Given the description of an element on the screen output the (x, y) to click on. 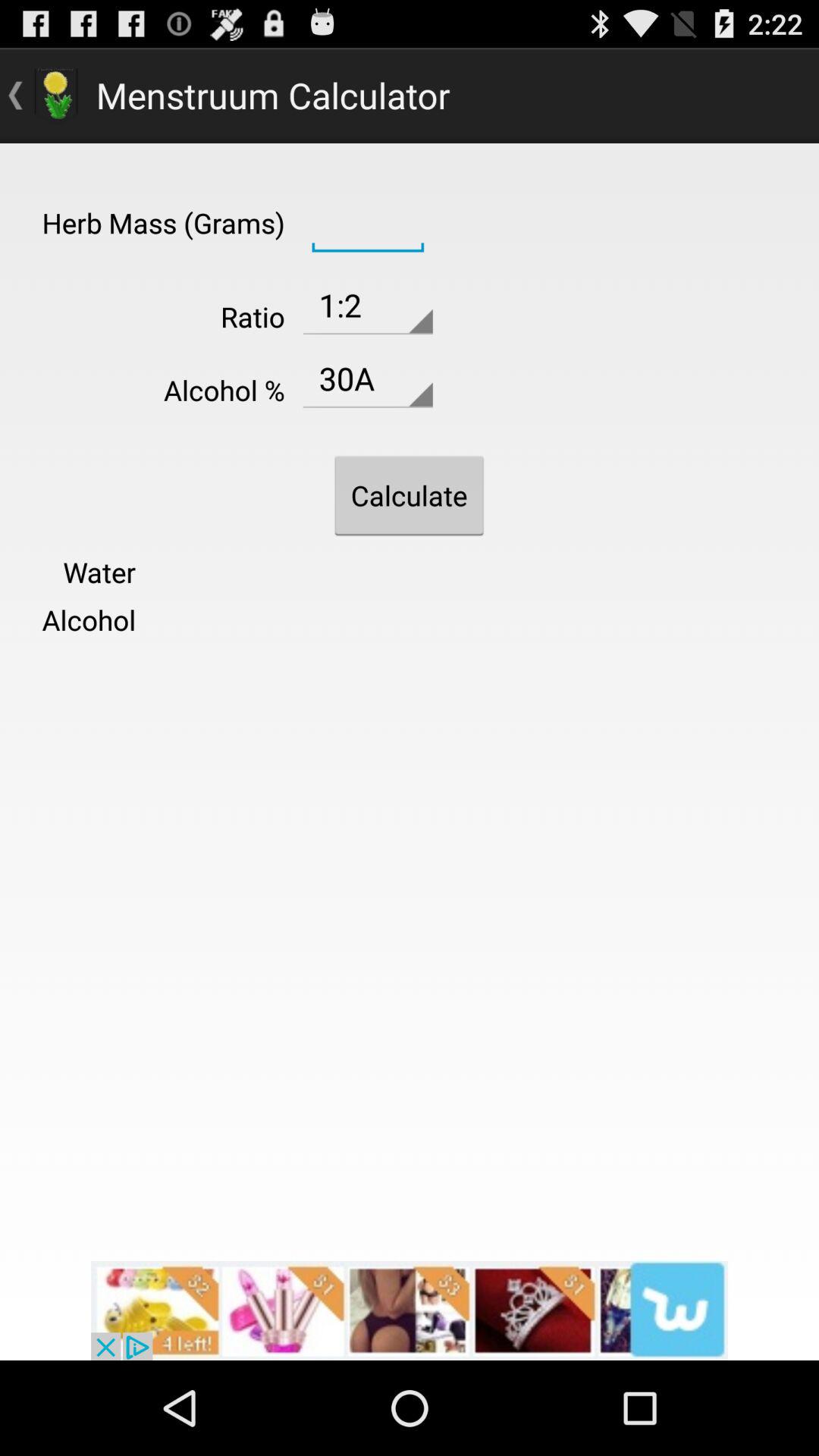
advertisements (409, 1310)
